Given the description of an element on the screen output the (x, y) to click on. 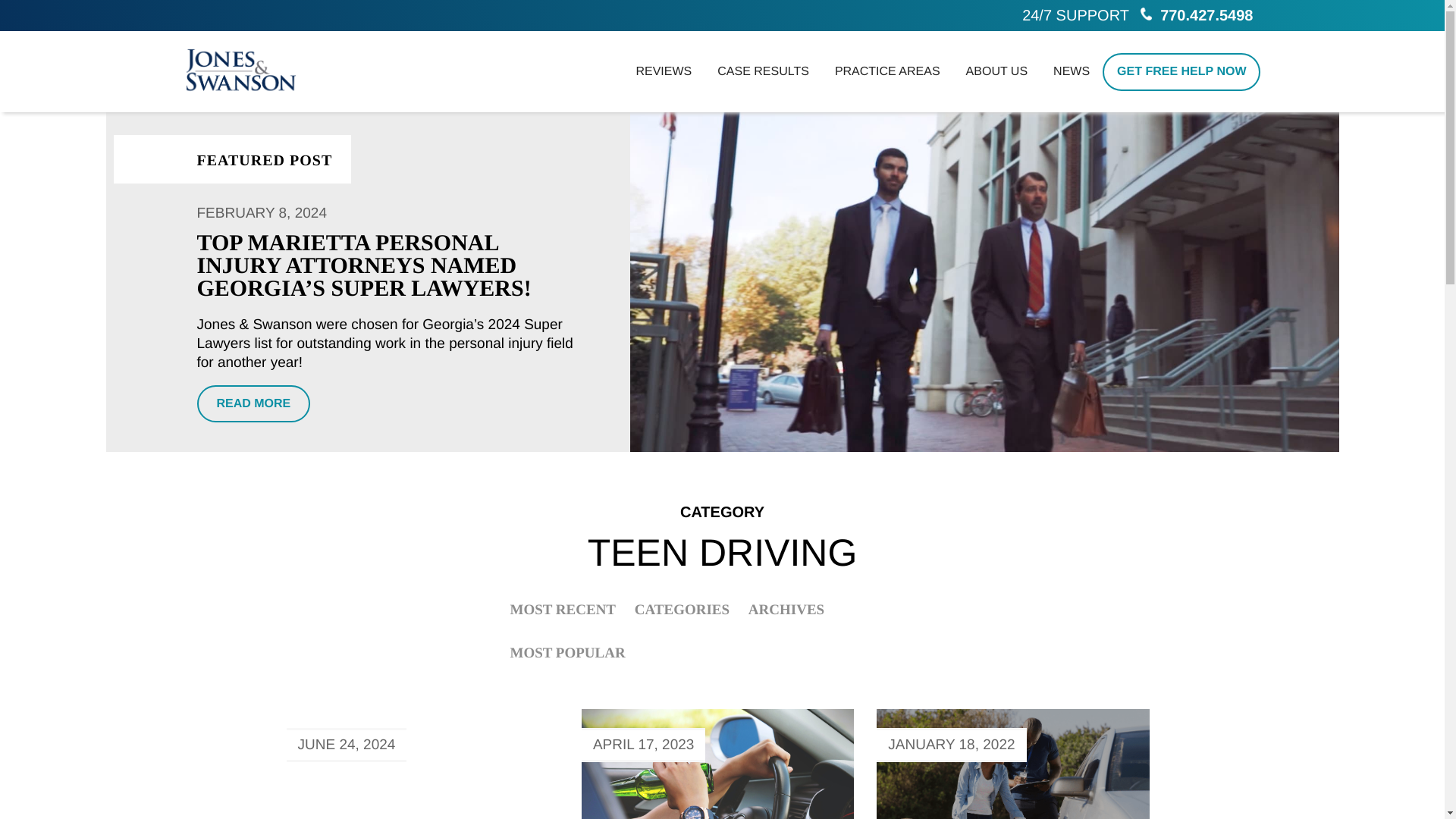
ABOUT US (997, 71)
NEWS (1071, 71)
CASE RESULTS (763, 71)
REVIEWS (663, 71)
READ MORE (253, 403)
PRACTICE AREAS (887, 71)
MOST RECENT (562, 609)
GET FREE HELP NOW (1181, 71)
